Given the description of an element on the screen output the (x, y) to click on. 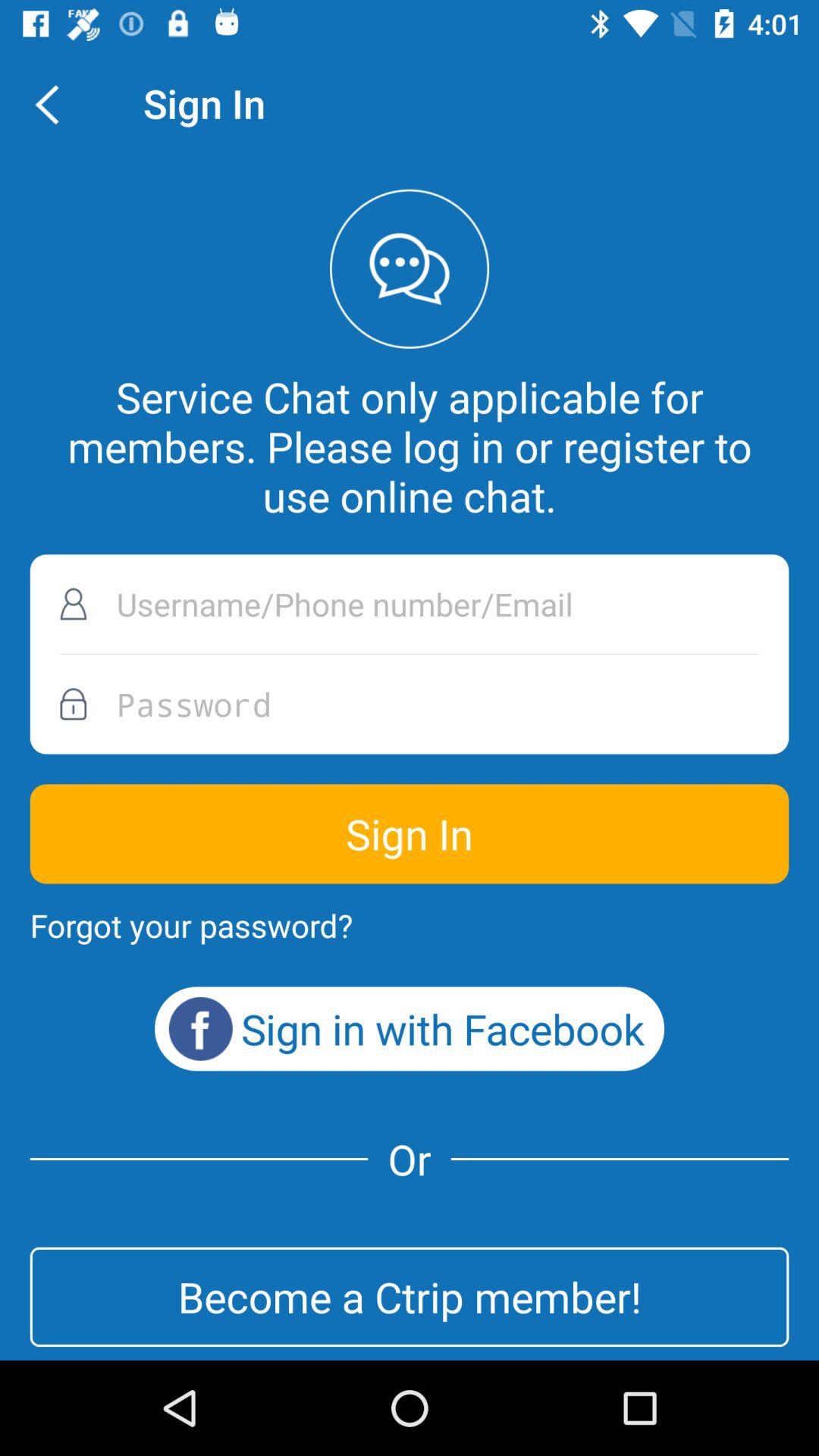
launch forgot your password? (191, 924)
